Given the description of an element on the screen output the (x, y) to click on. 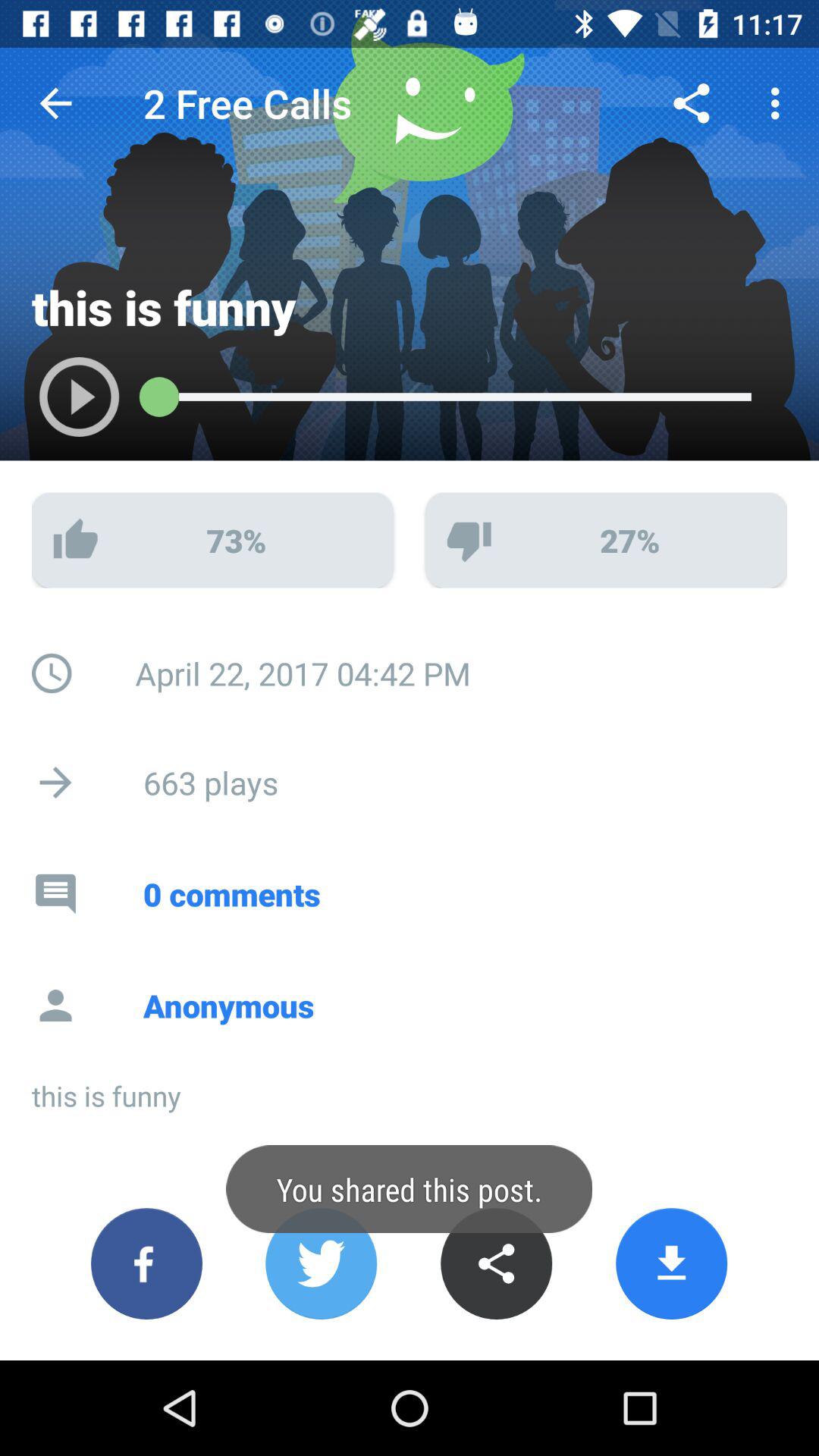
share on facebook (146, 1263)
